Given the description of an element on the screen output the (x, y) to click on. 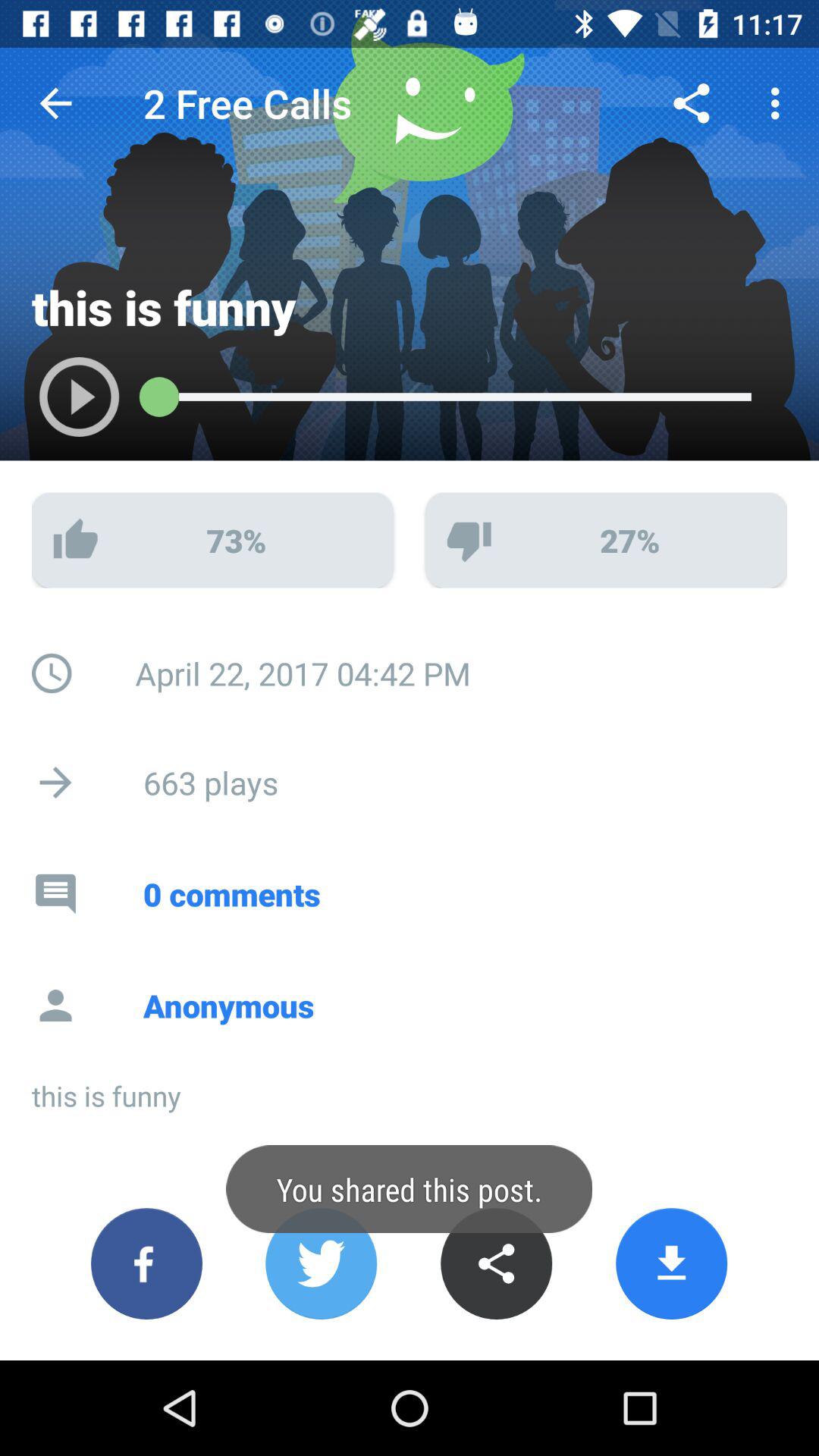
share on facebook (146, 1263)
